Given the description of an element on the screen output the (x, y) to click on. 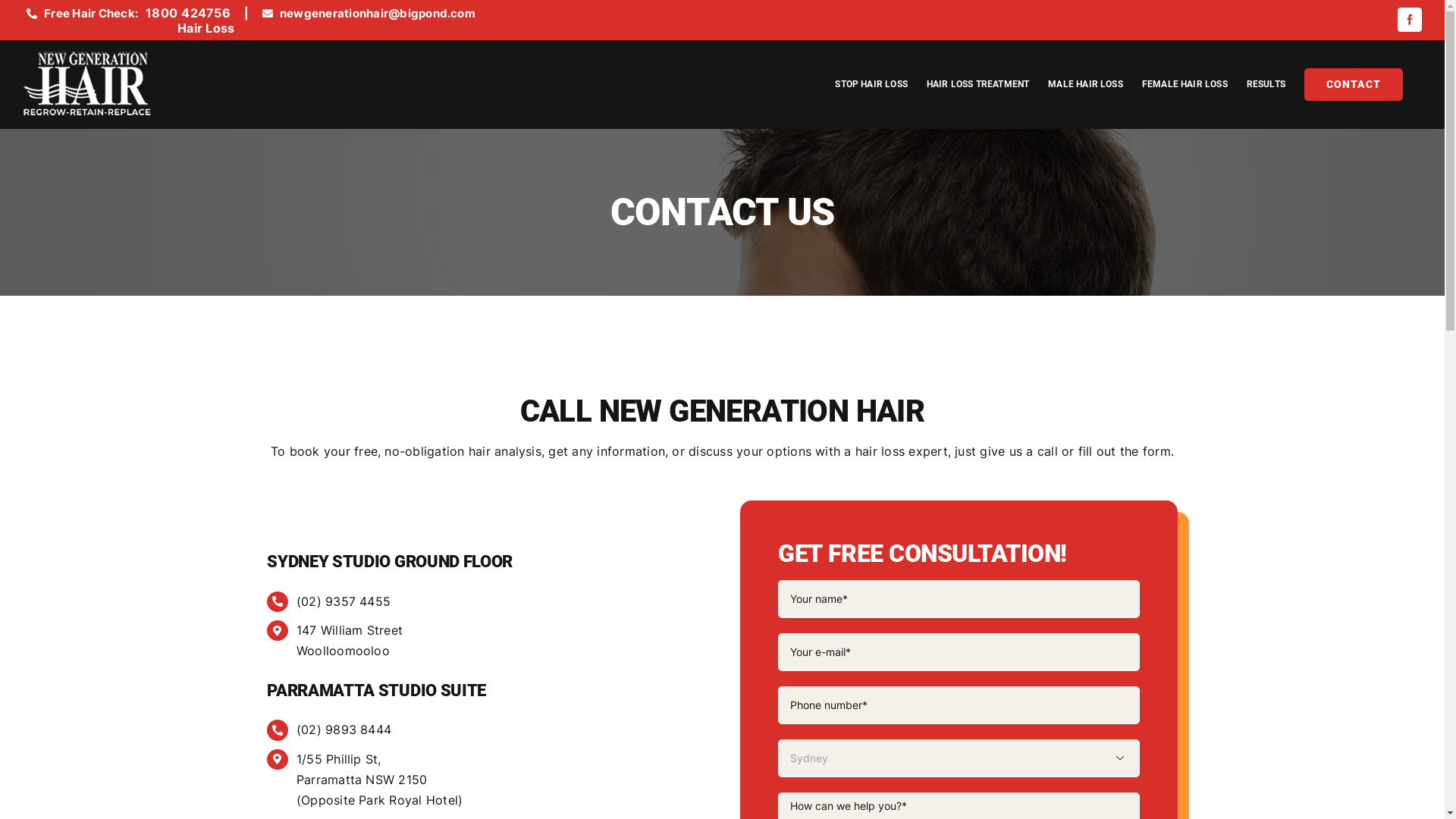
FEMALE HAIR LOSS Element type: text (1184, 84)
(02) 9893 8444 Element type: text (343, 729)
RESULTS Element type: text (1265, 84)
HAIR LOSS TREATMENT Element type: text (977, 84)
1800
424756
Hair Loss Element type: text (189, 22)
newgenerationhair@bigpond.com Element type: text (377, 13)
MALE HAIR LOSS Element type: text (1085, 84)
(02) 9357 4455 Element type: text (343, 600)
Facebook Element type: text (1409, 19)
CONTACT Element type: text (1353, 84)
STOP HAIR LOSS Element type: text (870, 84)
